Given the description of an element on the screen output the (x, y) to click on. 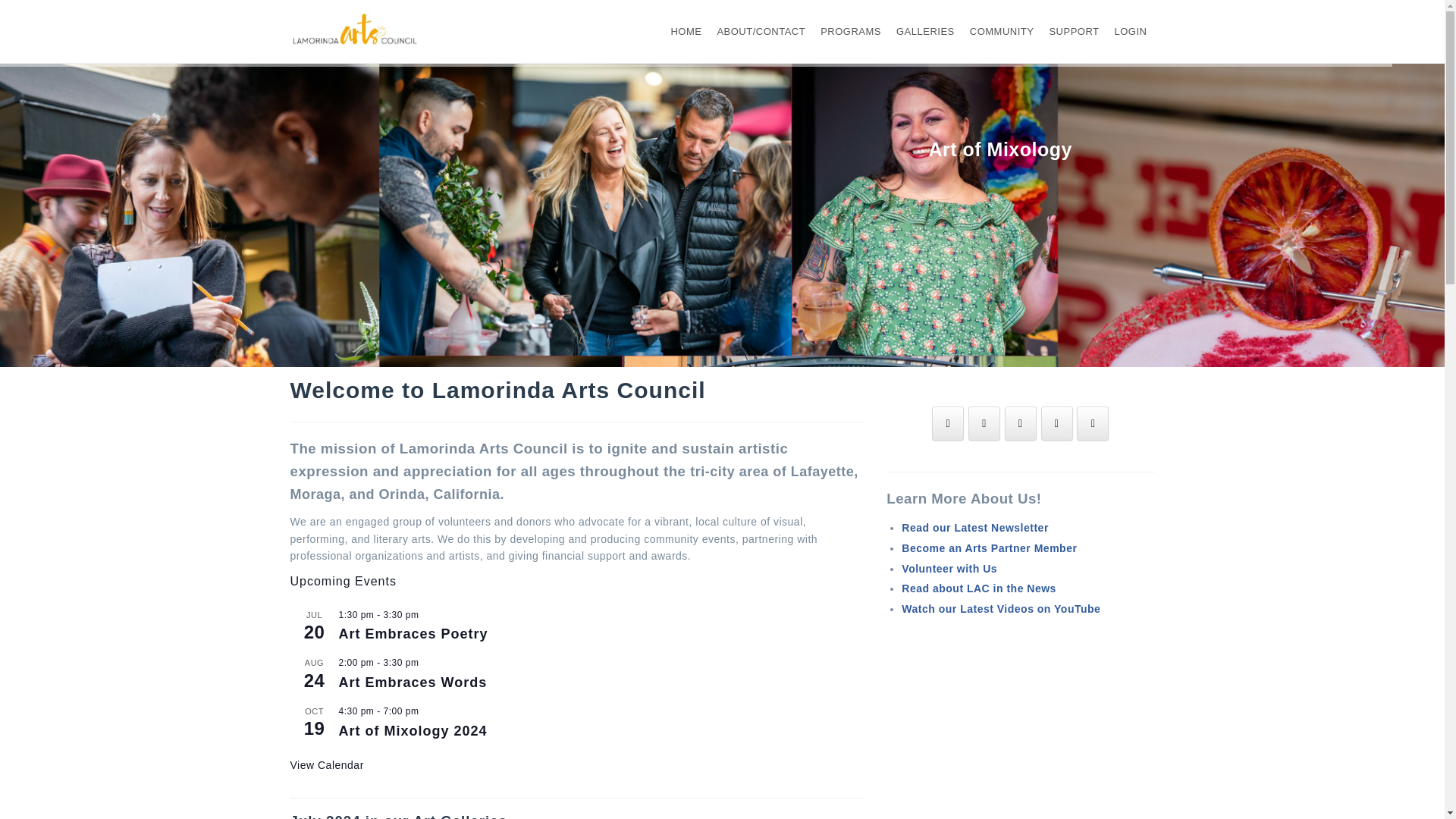
PROGRAMS (850, 31)
Lamorinda Arts Council on Youtube (1057, 423)
HOME (685, 31)
Lamorinda Arts Council (356, 30)
Twitter (1020, 423)
Art Embraces Poetry (412, 634)
Lamorinda Arts Council on Facebook (947, 423)
Art of Mixology 2024 (411, 731)
SUPPORT (1073, 31)
Art Embraces Words (411, 682)
GALLERIES (925, 31)
Instagram (984, 423)
LOGIN (1131, 31)
COMMUNITY (1001, 31)
View more events. (325, 765)
